Given the description of an element on the screen output the (x, y) to click on. 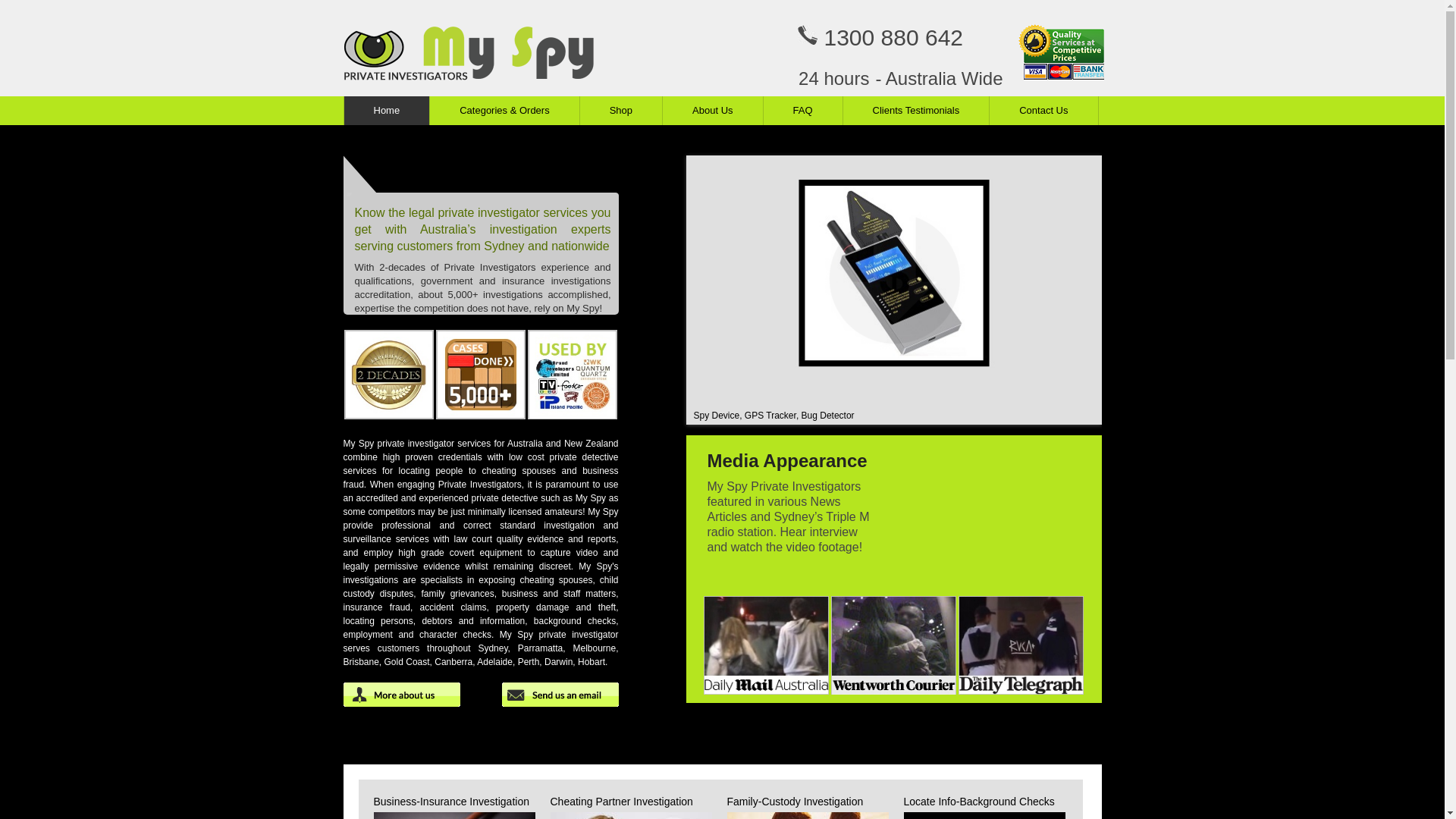
Clients Testimonials Element type: text (915, 110)
Shop Element type: text (620, 110)
Private Investigator Cases Accomplished Element type: hover (480, 374)
Home Element type: text (385, 110)
Categories & Orders Element type: text (504, 110)
Quality Private Investigator Service and Payments Element type: hover (1060, 48)
Private Investigator Reputable Services Element type: hover (572, 374)
My Spy Private Investigators Cheating Spouse Article Element type: hover (893, 645)
Private Investigator Australia Experience Element type: hover (388, 374)
About Us Element type: text (712, 110)
24 hours Element type: text (833, 78)
1300 880 642 Element type: text (893, 37)
FAQ Element type: text (802, 110)
- Australia Wide Element type: text (938, 78)
Contact Us Element type: text (1043, 110)
